Given the description of an element on the screen output the (x, y) to click on. 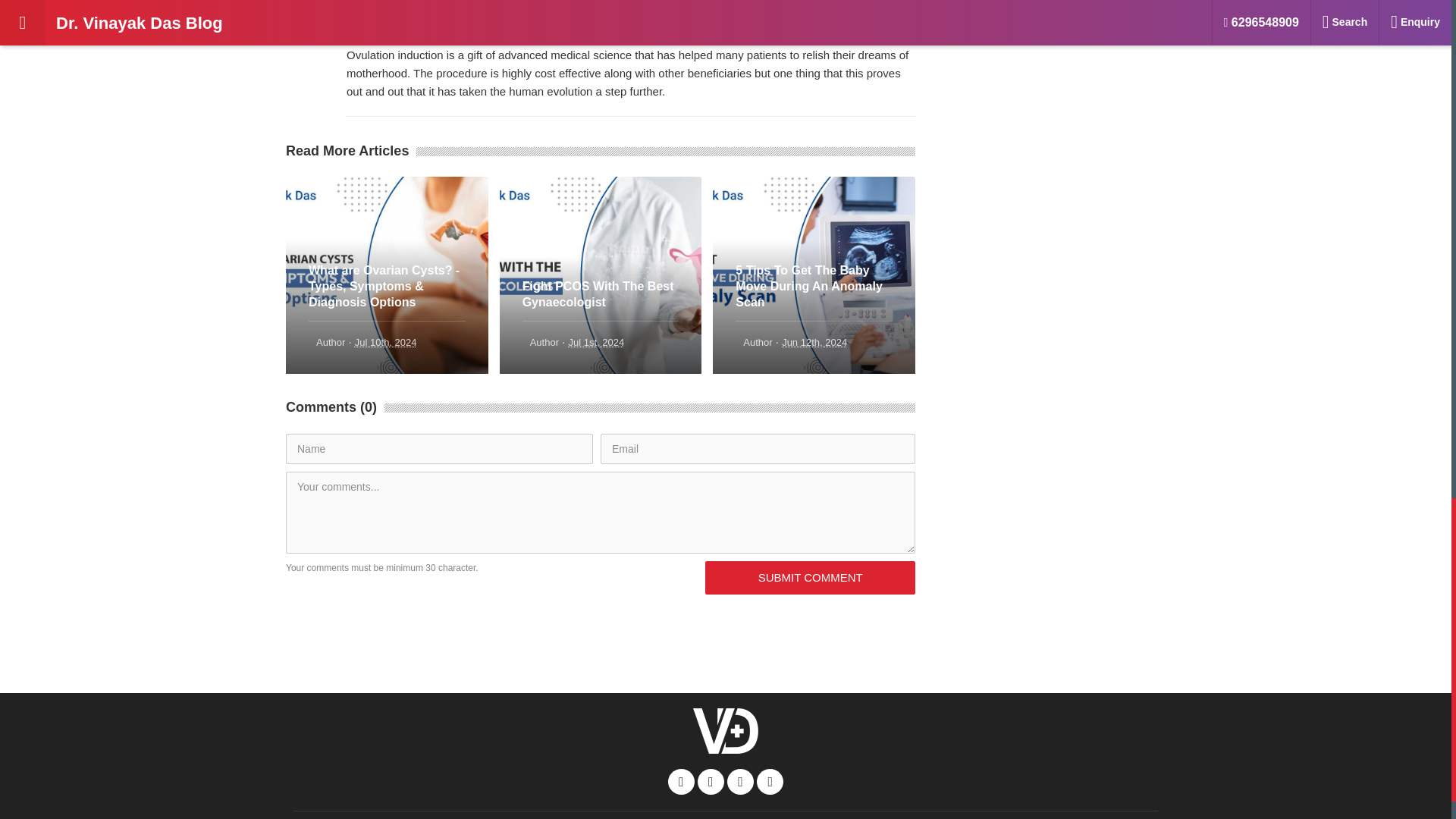
Author (544, 342)
Jun 12th, 2024 (814, 342)
SUBMIT COMMENT (809, 577)
Jul 1st, 2024 (595, 342)
Author (756, 342)
Jul 10th, 2024 (385, 342)
Author (330, 342)
